Given the description of an element on the screen output the (x, y) to click on. 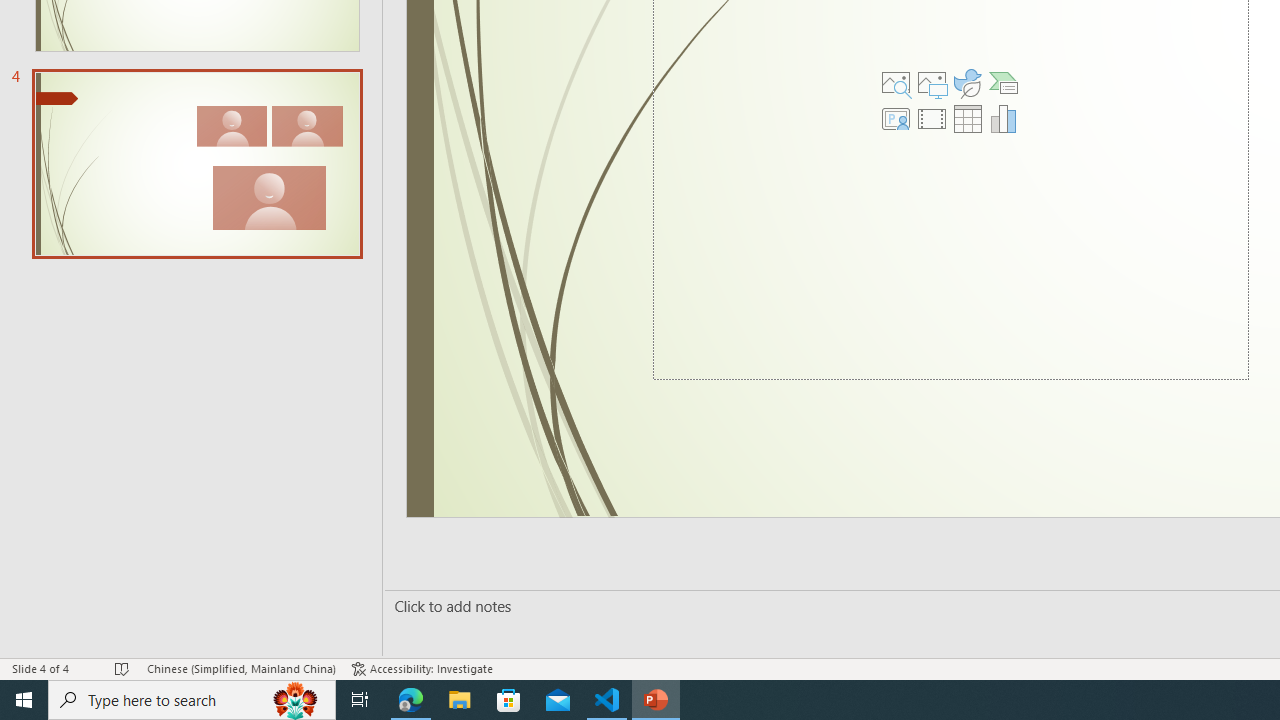
Insert a SmartArt Graphic (1004, 82)
Accessibility Checker Accessibility: Investigate (422, 668)
Slide (196, 163)
Insert Chart (1004, 118)
Insert Table (968, 118)
Insert Video (932, 118)
Insert Cameo (895, 118)
Insert an Icon (968, 82)
Pictures (932, 82)
Stock Images (895, 82)
